Given the description of an element on the screen output the (x, y) to click on. 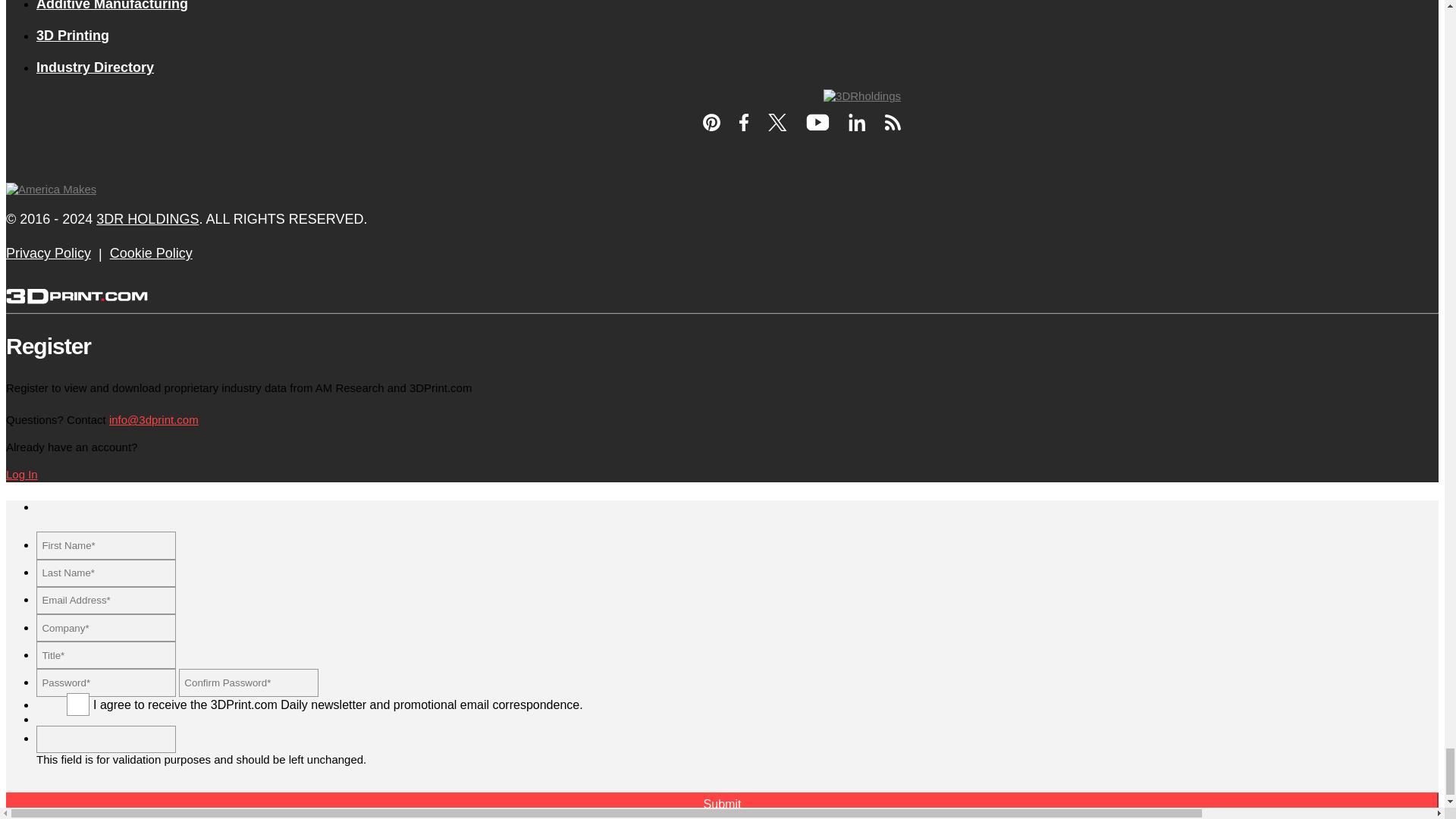
Submit (721, 805)
